Given the description of an element on the screen output the (x, y) to click on. 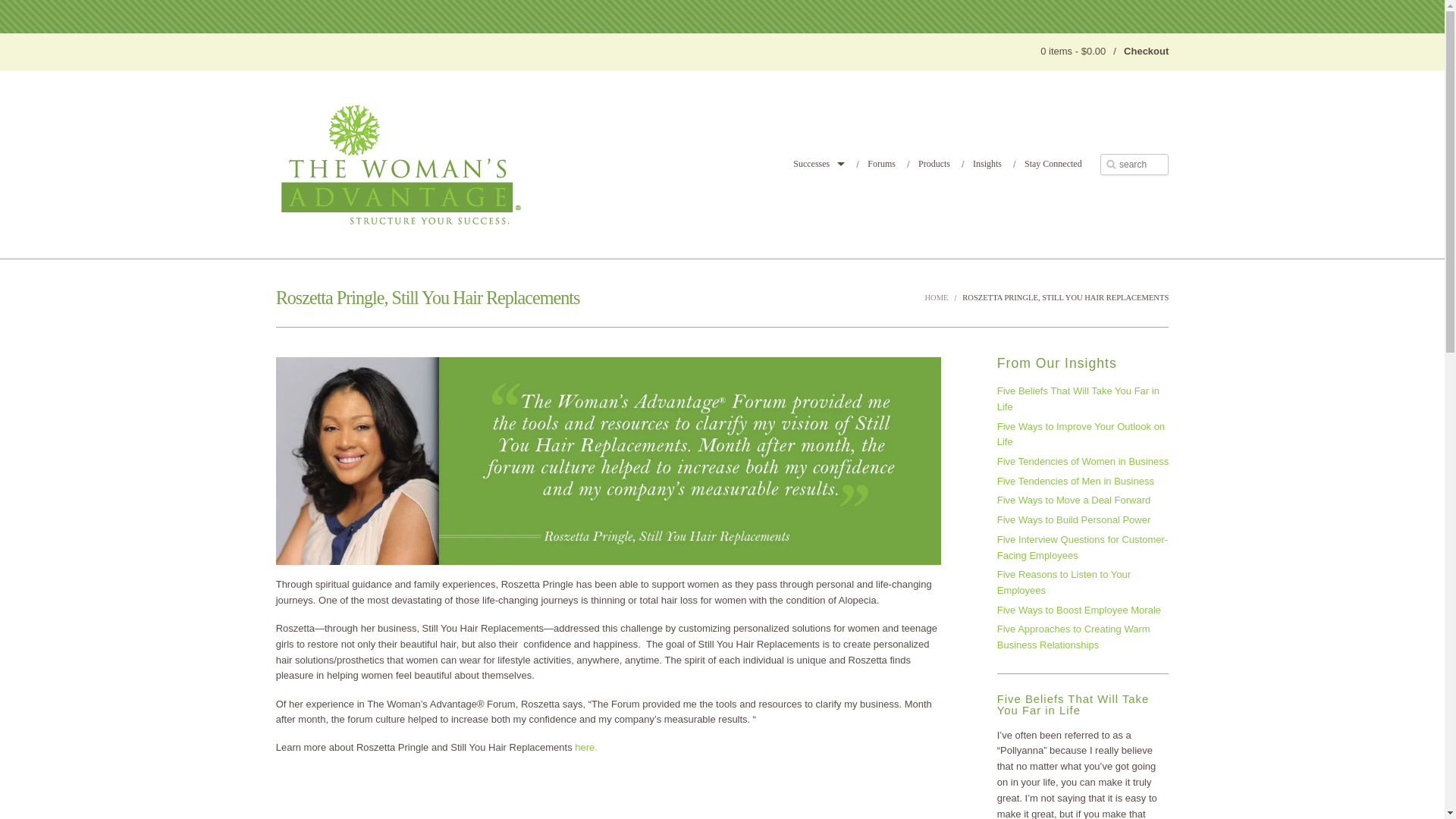
Five Ways to Move a Deal Forward (1083, 501)
Five Reasons to Listen to Your Employees (1083, 582)
Five Beliefs That Will Take You Far in Life (1083, 400)
Five Ways to Build Personal Power (1083, 520)
Stay Connected (1047, 163)
Checkout (1146, 50)
here. (585, 747)
Five Tendencies of Men in Business (1083, 481)
Five Ways to Boost Employee Morale (1083, 609)
Five Interview Questions for Customer-Facing Employees (1083, 547)
Five Beliefs That Will Take You Far in Life (1073, 704)
Successes (818, 163)
Womans Advantage (400, 164)
Five Ways to Improve Your Outlook on Life (1083, 434)
HOME (935, 297)
